Given the description of an element on the screen output the (x, y) to click on. 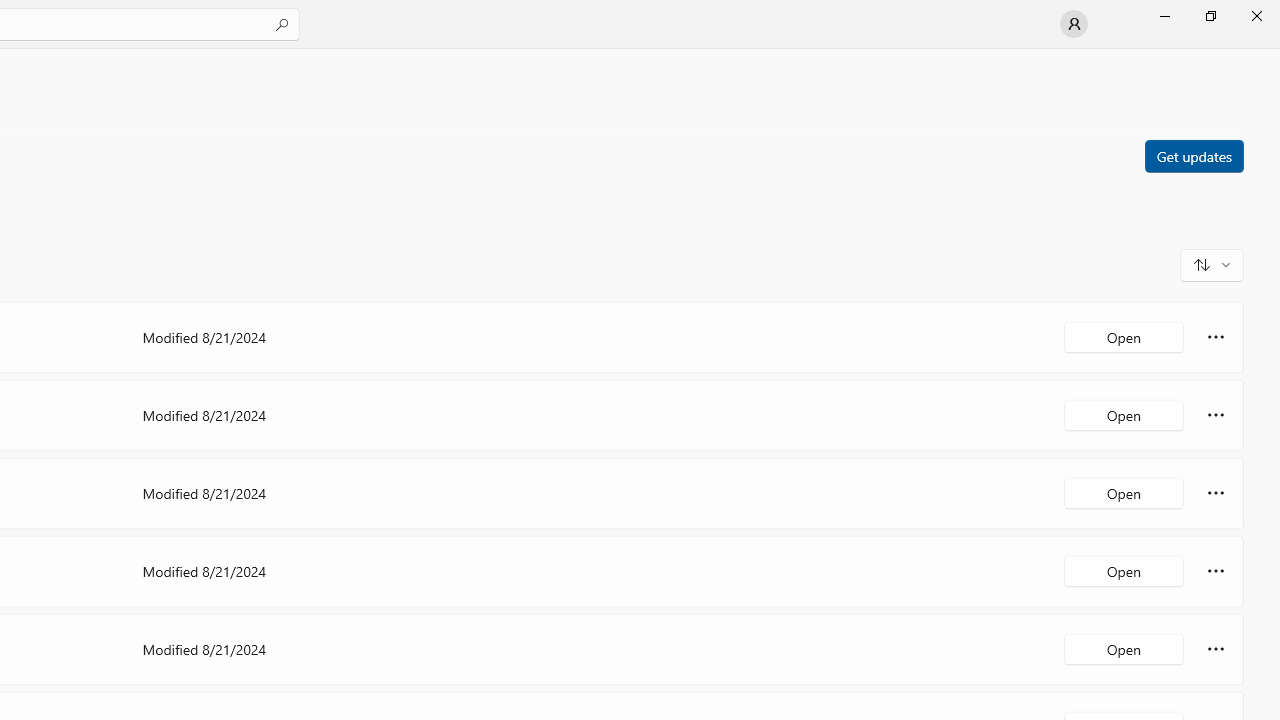
More options (1215, 648)
Open (1123, 648)
Sort and filter (1212, 263)
Get updates (1193, 155)
